Given the description of an element on the screen output the (x, y) to click on. 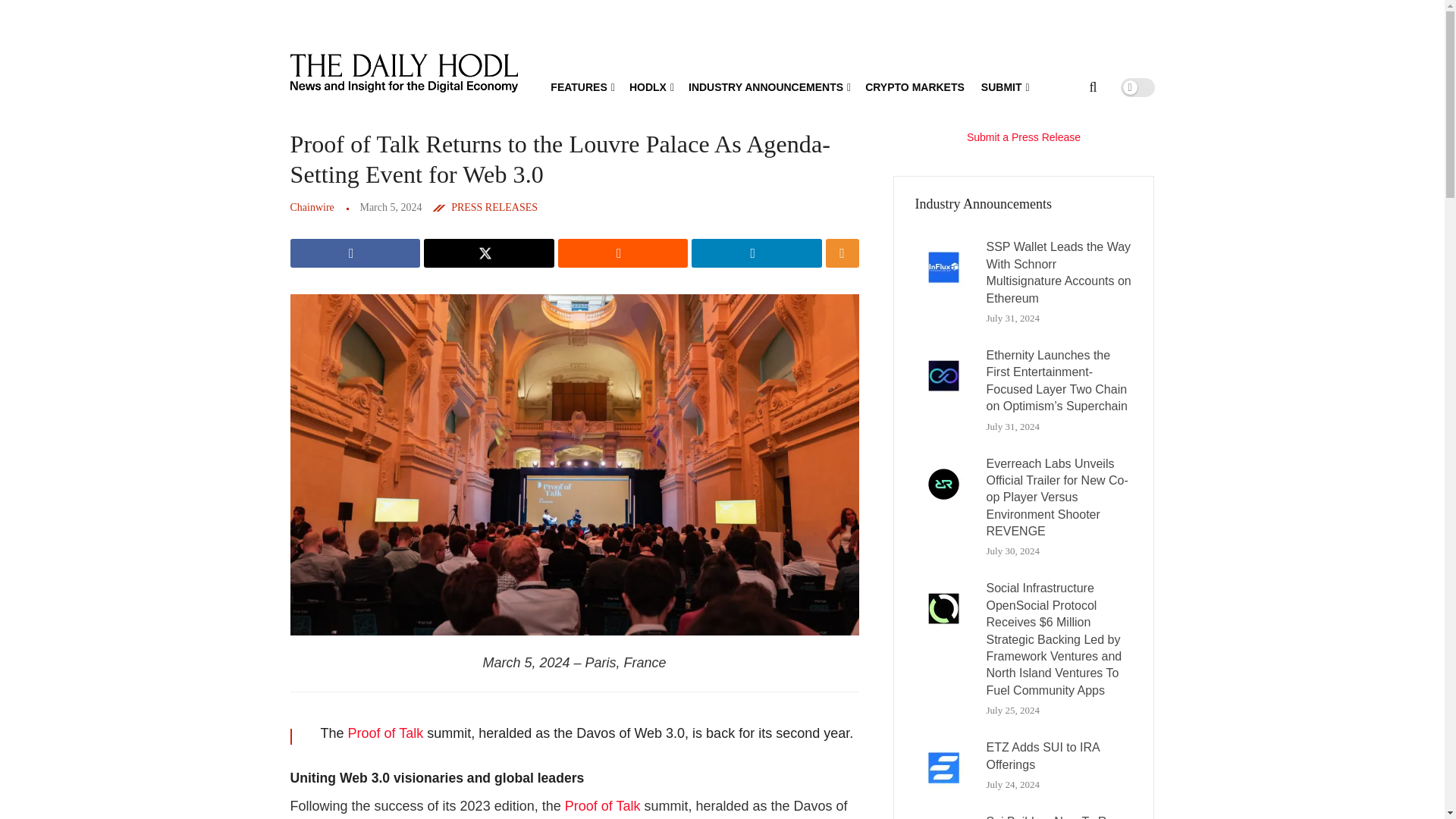
SUBMIT (1004, 86)
CRYPTO MARKETS (913, 86)
INDUSTRY ANNOUNCEMENTS (768, 86)
FEATURES (581, 86)
HODLX (649, 86)
